Given the description of an element on the screen output the (x, y) to click on. 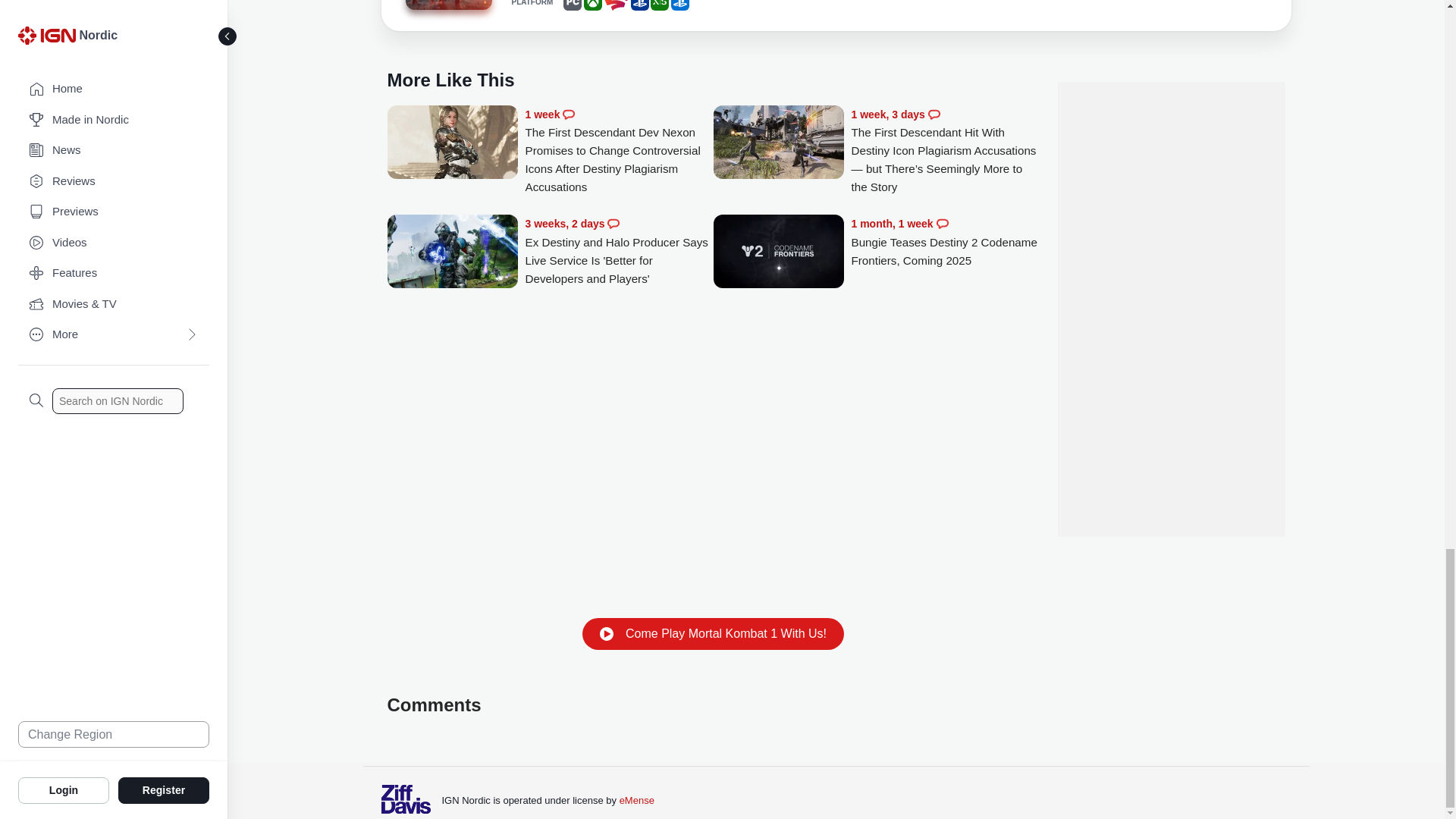
Destiny 2 (448, 7)
Bungie Teases Destiny 2 Codename Frontiers, Coming 2025 (778, 252)
Destiny 2 (448, 4)
PC (571, 5)
XBOXONE (592, 5)
Bungie Teases Destiny 2 Codename Frontiers, Coming 2025 (944, 242)
XBOXSERIES (659, 5)
PS4 (639, 5)
